Given the description of an element on the screen output the (x, y) to click on. 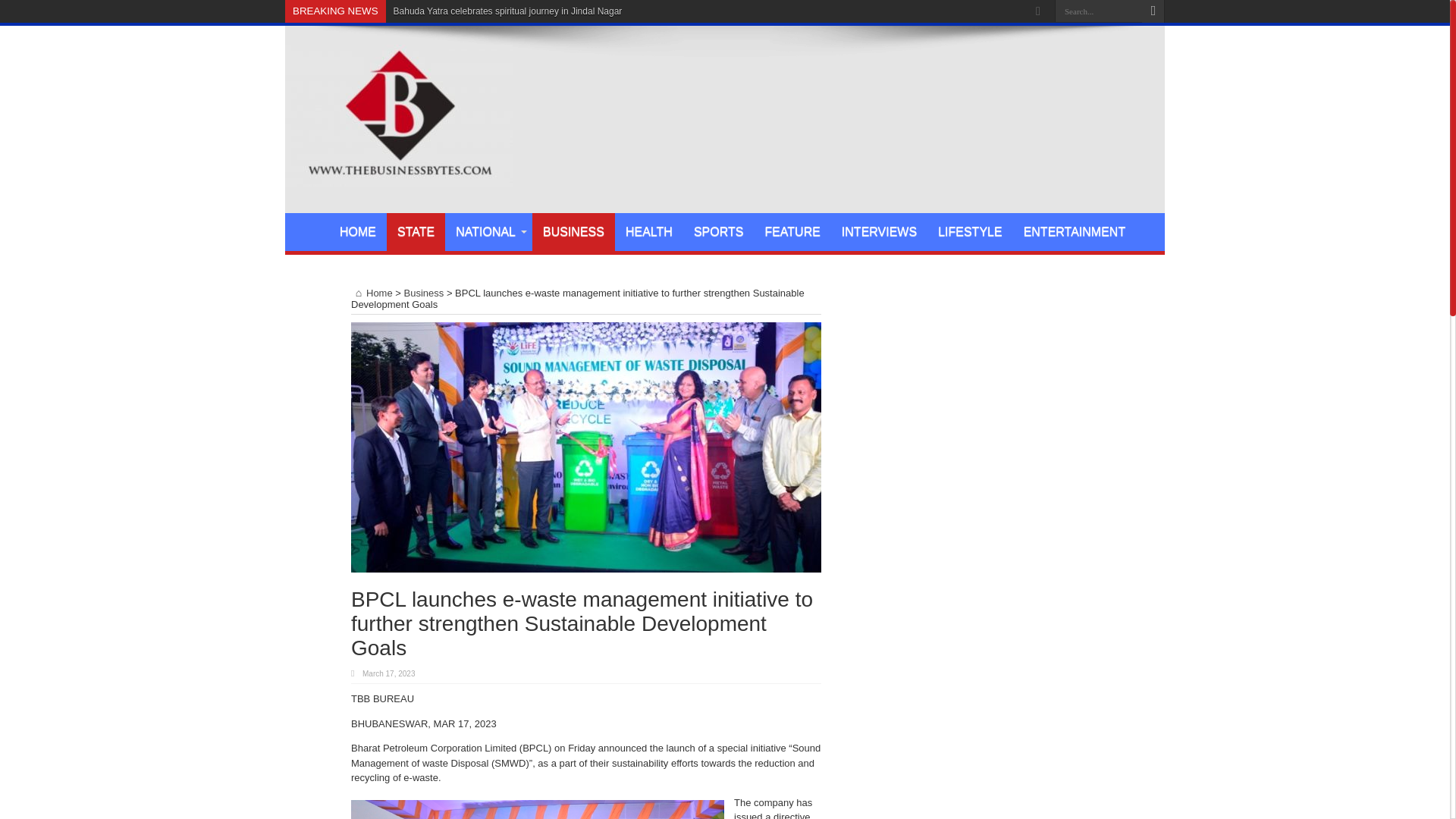
Bahuda Yatra celebrates spiritual journey in Jindal Nagar (508, 11)
The Business Bytes (398, 175)
Search (1152, 11)
Bahuda Yatra celebrates spiritual journey in Jindal Nagar (508, 11)
ENTERTAINMENT (1075, 231)
Search... (1097, 11)
